Given the description of an element on the screen output the (x, y) to click on. 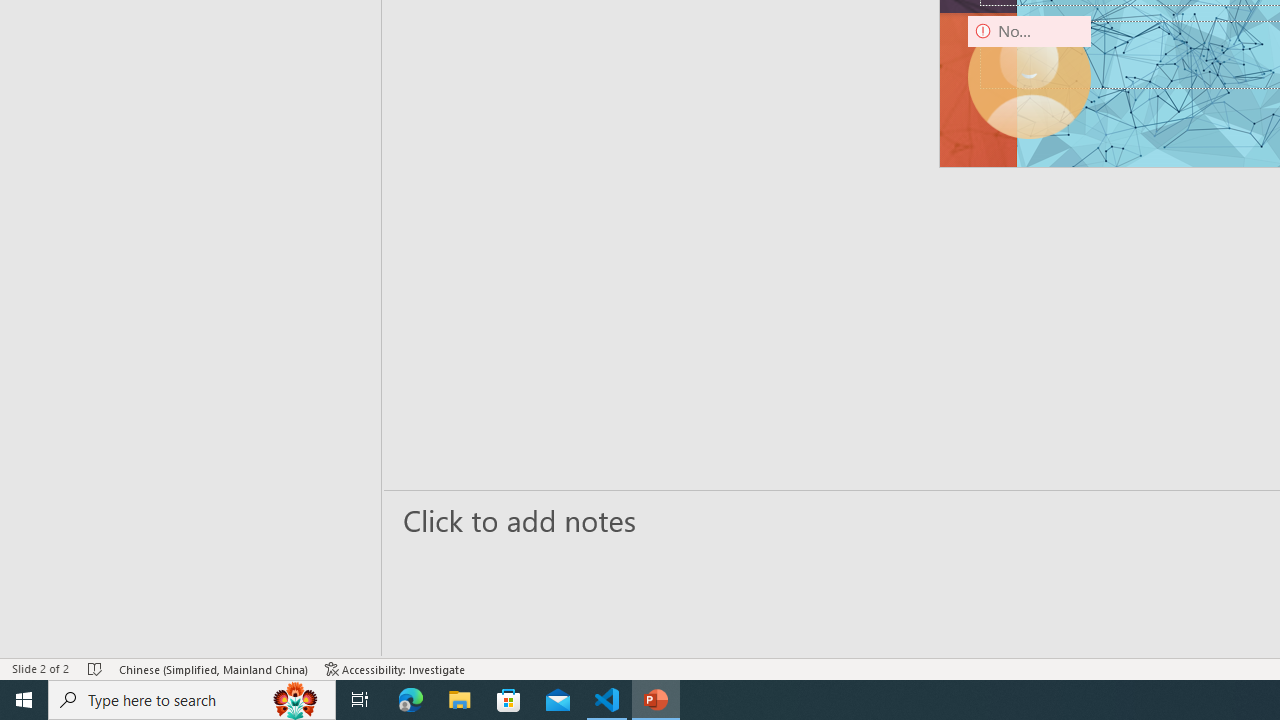
Camera 9, No camera detected. (1029, 77)
